Given the description of an element on the screen output the (x, y) to click on. 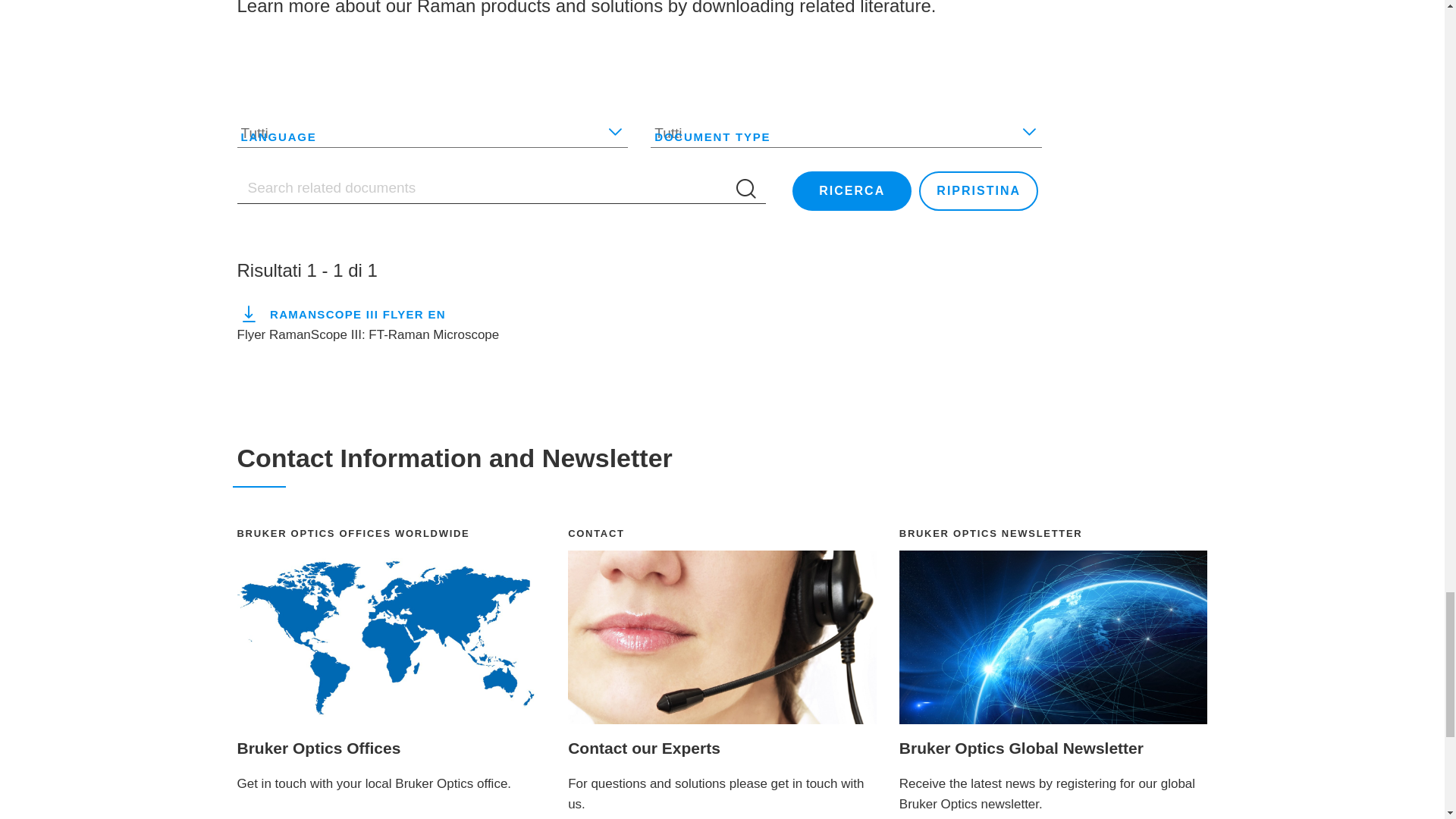
telephon headset (721, 636)
world commumnication space (1053, 636)
